Given the description of an element on the screen output the (x, y) to click on. 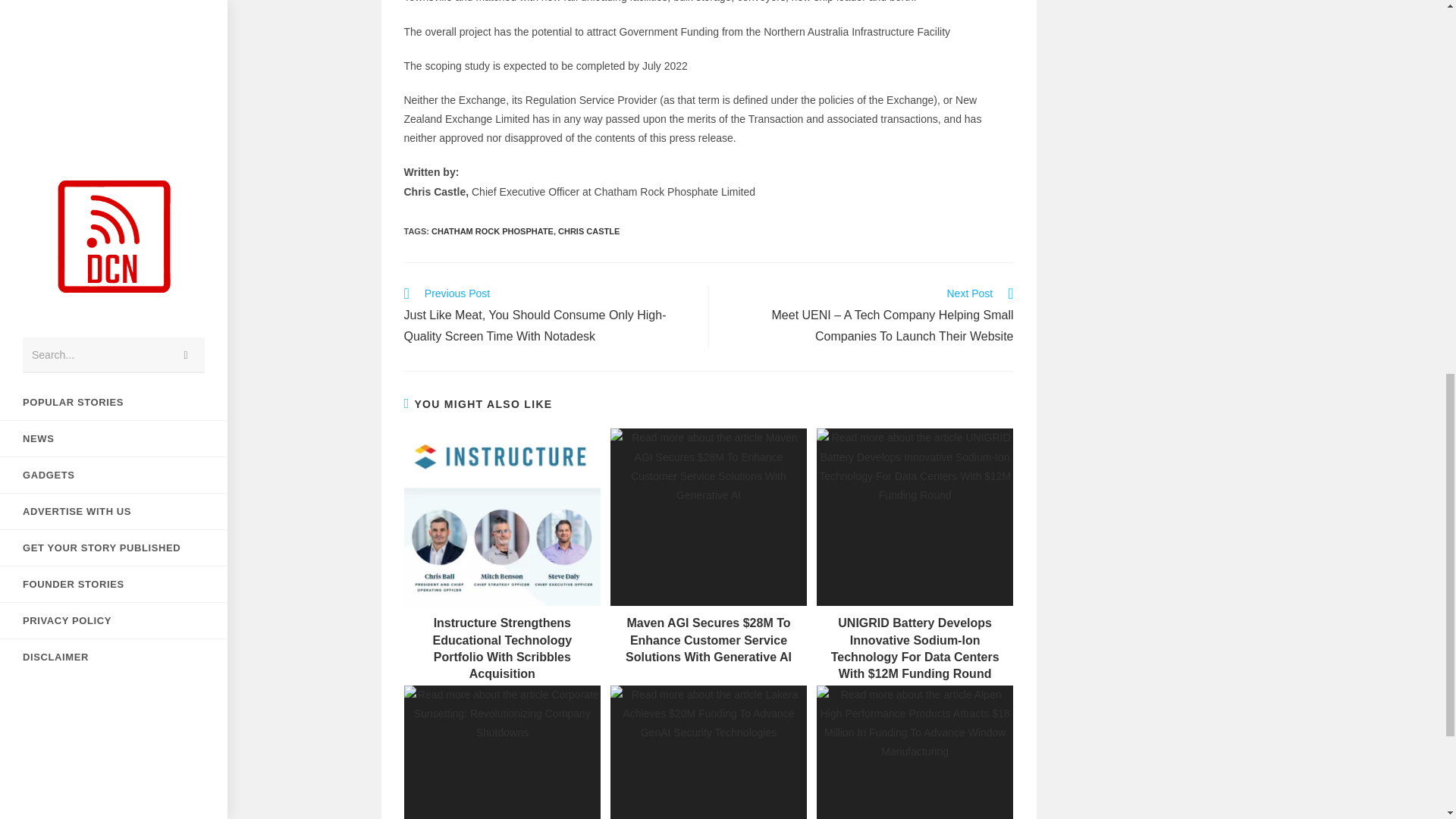
CHRIS CASTLE (588, 230)
CHATHAM ROCK PHOSPHATE (491, 230)
